Given the description of an element on the screen output the (x, y) to click on. 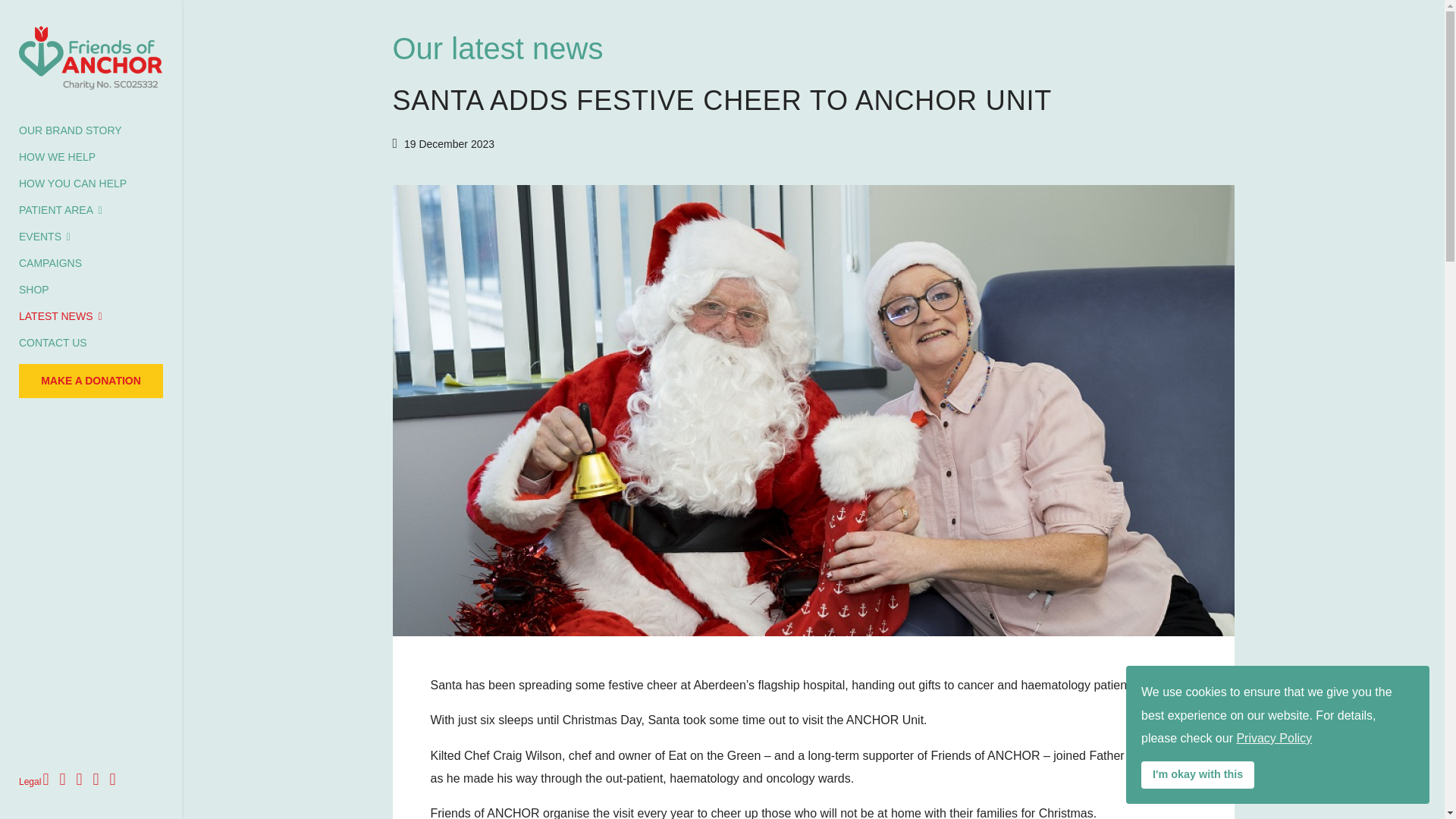
SHOP (33, 289)
CONTACT US (52, 343)
Published: 19 December 2023 (444, 144)
HOW WE HELP (57, 157)
LATEST NEWS (59, 316)
CAMPAIGNS (49, 263)
HOW YOU CAN HELP (72, 183)
EVENTS (43, 236)
PATIENT AREA (59, 210)
MAKE A DONATION (90, 380)
OUR BRAND STORY (70, 130)
Legal (29, 781)
